Given the description of an element on the screen output the (x, y) to click on. 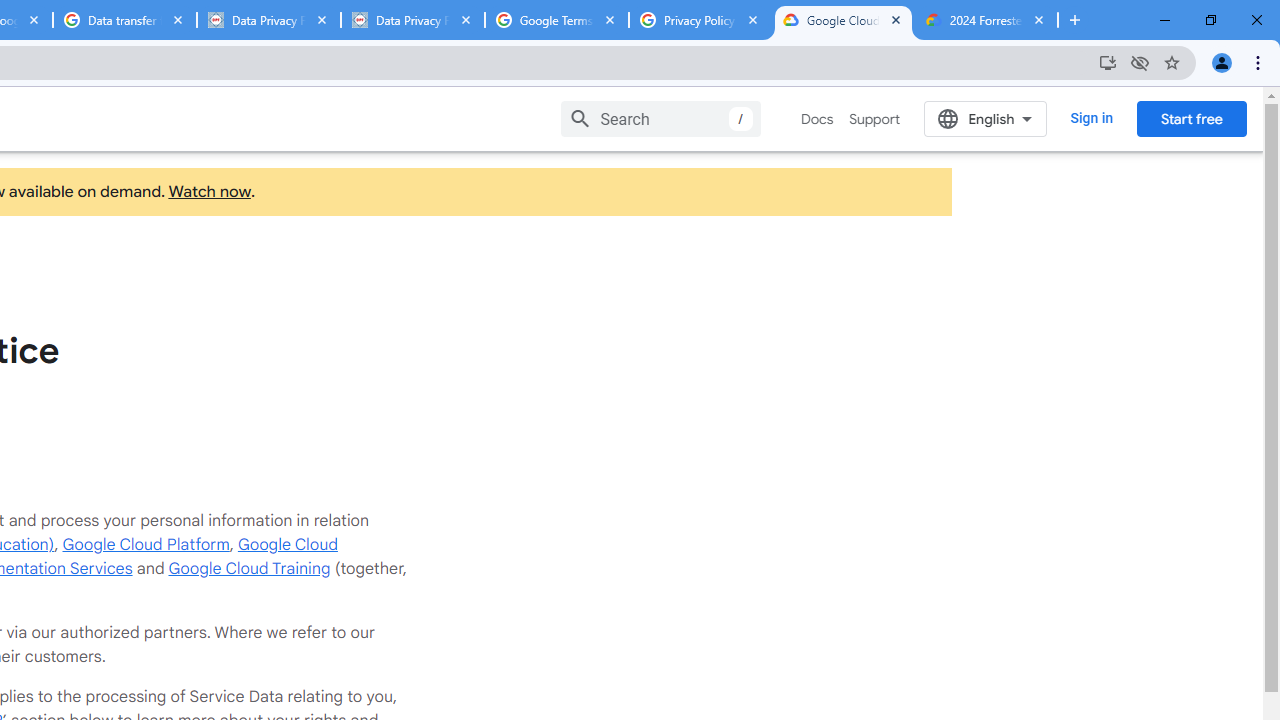
Google Cloud Training (249, 568)
Google Cloud Platform (145, 544)
Start free (1191, 118)
Google Cloud Privacy Notice (843, 20)
Data Privacy Framework (268, 20)
Data Privacy Framework (412, 20)
